Given the description of an element on the screen output the (x, y) to click on. 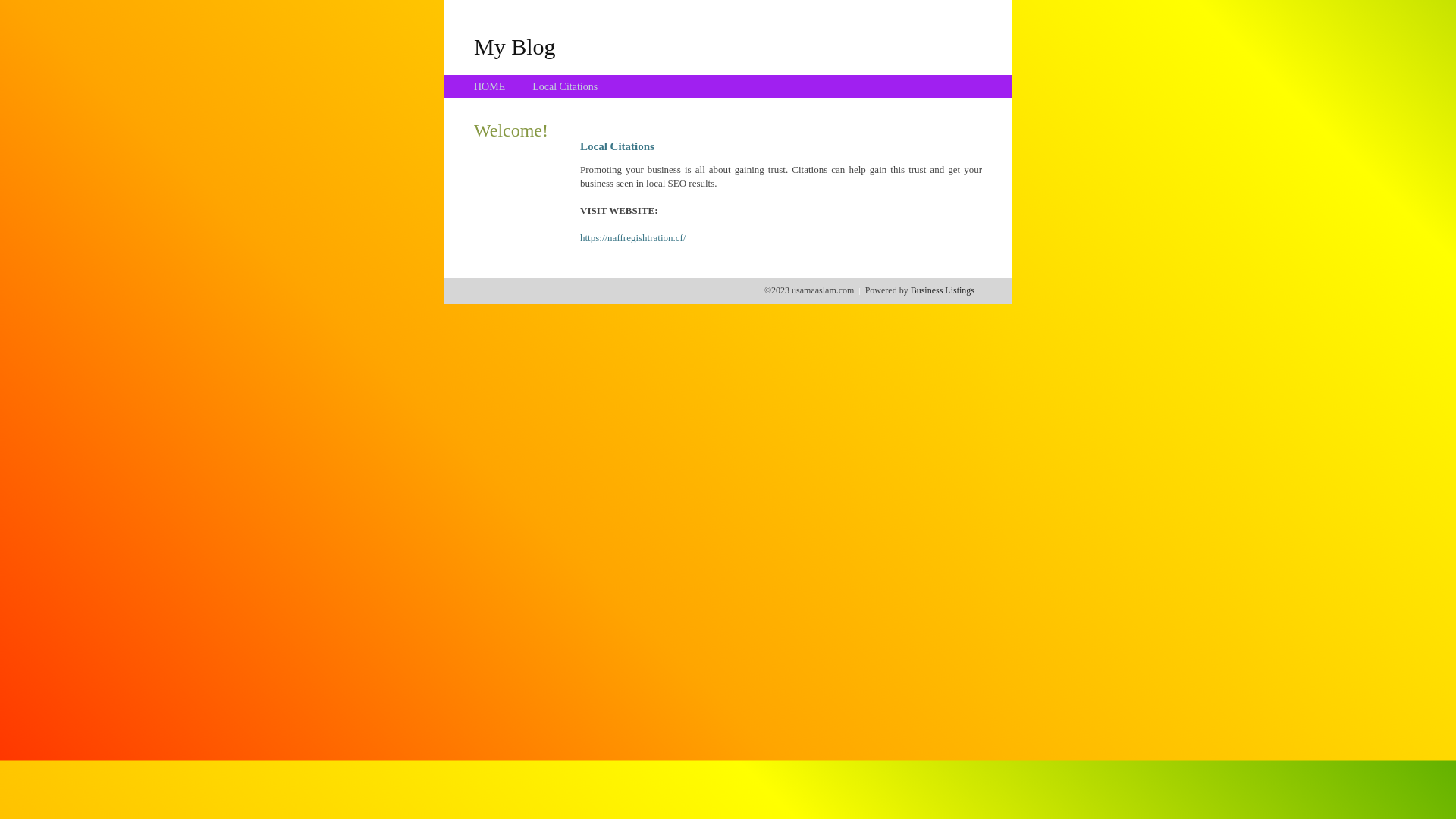
Business Listings Element type: text (942, 290)
https://naffregishtration.cf/ Element type: text (632, 237)
Local Citations Element type: text (564, 86)
HOME Element type: text (489, 86)
My Blog Element type: text (514, 46)
